Given the description of an element on the screen output the (x, y) to click on. 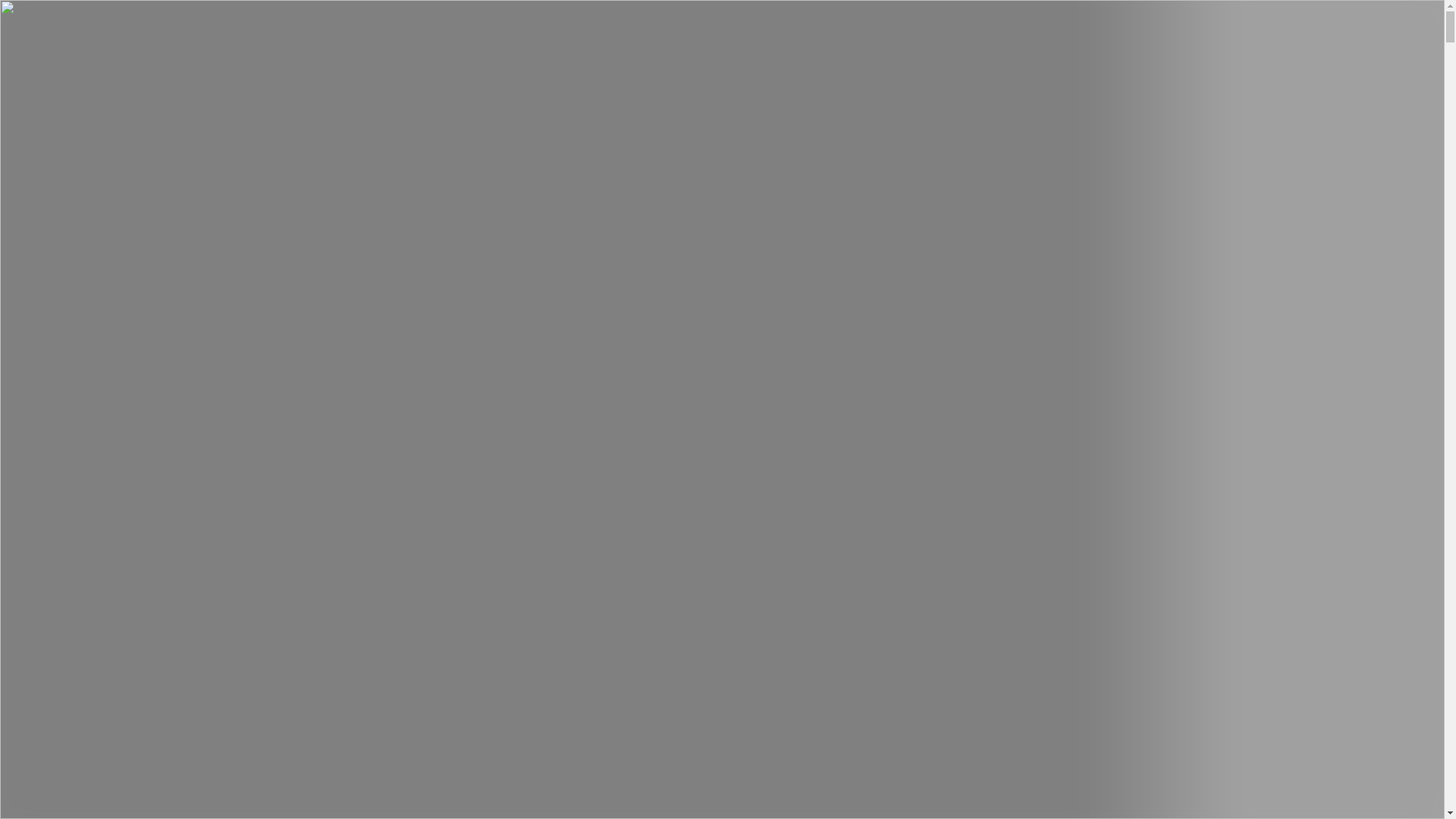
Read the latest issue (137, 694)
